Given the description of an element on the screen output the (x, y) to click on. 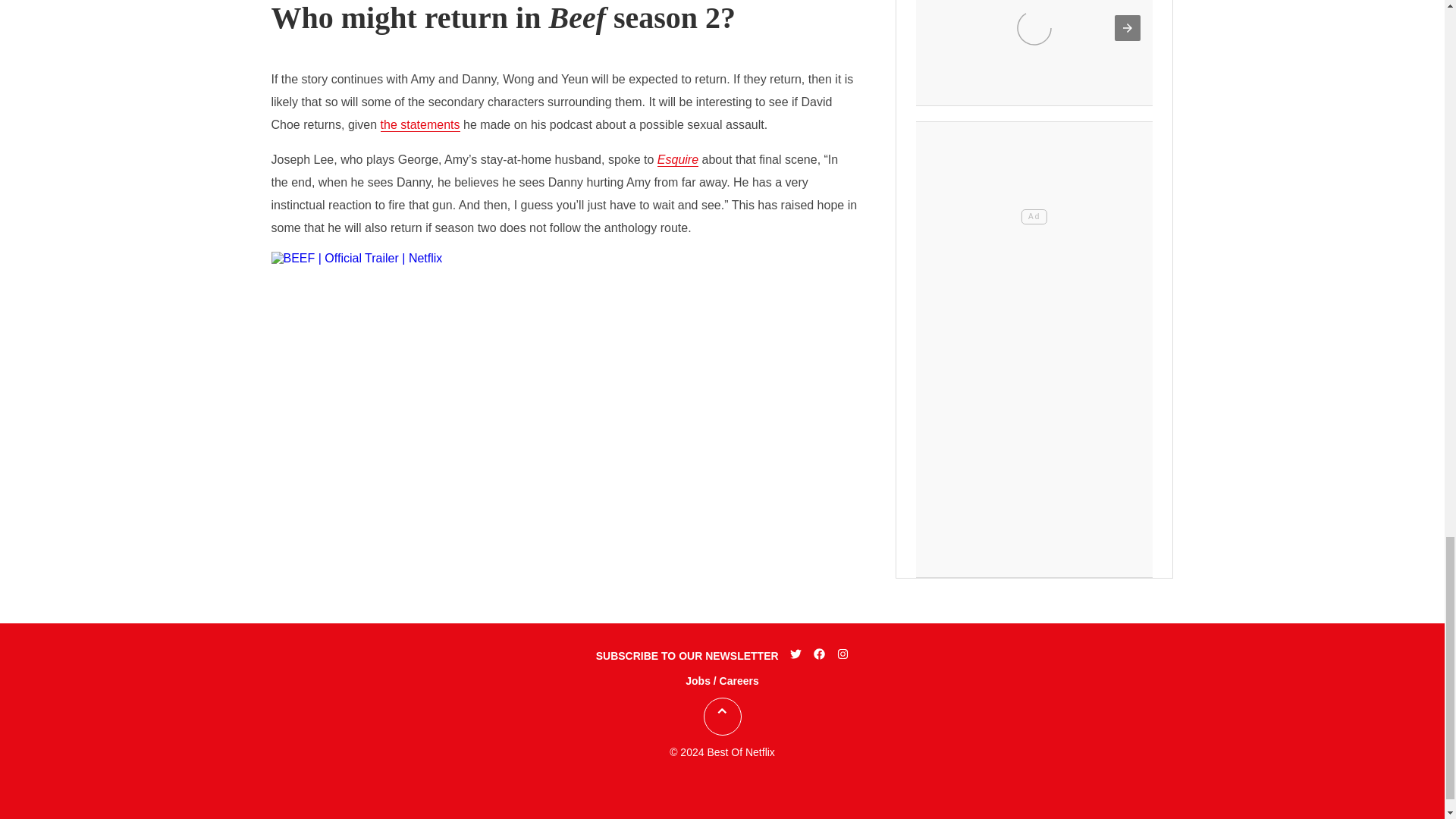
Esquire (678, 160)
the statements (420, 124)
SUBSCRIBE TO OUR NEWSLETTER (687, 655)
